Given the description of an element on the screen output the (x, y) to click on. 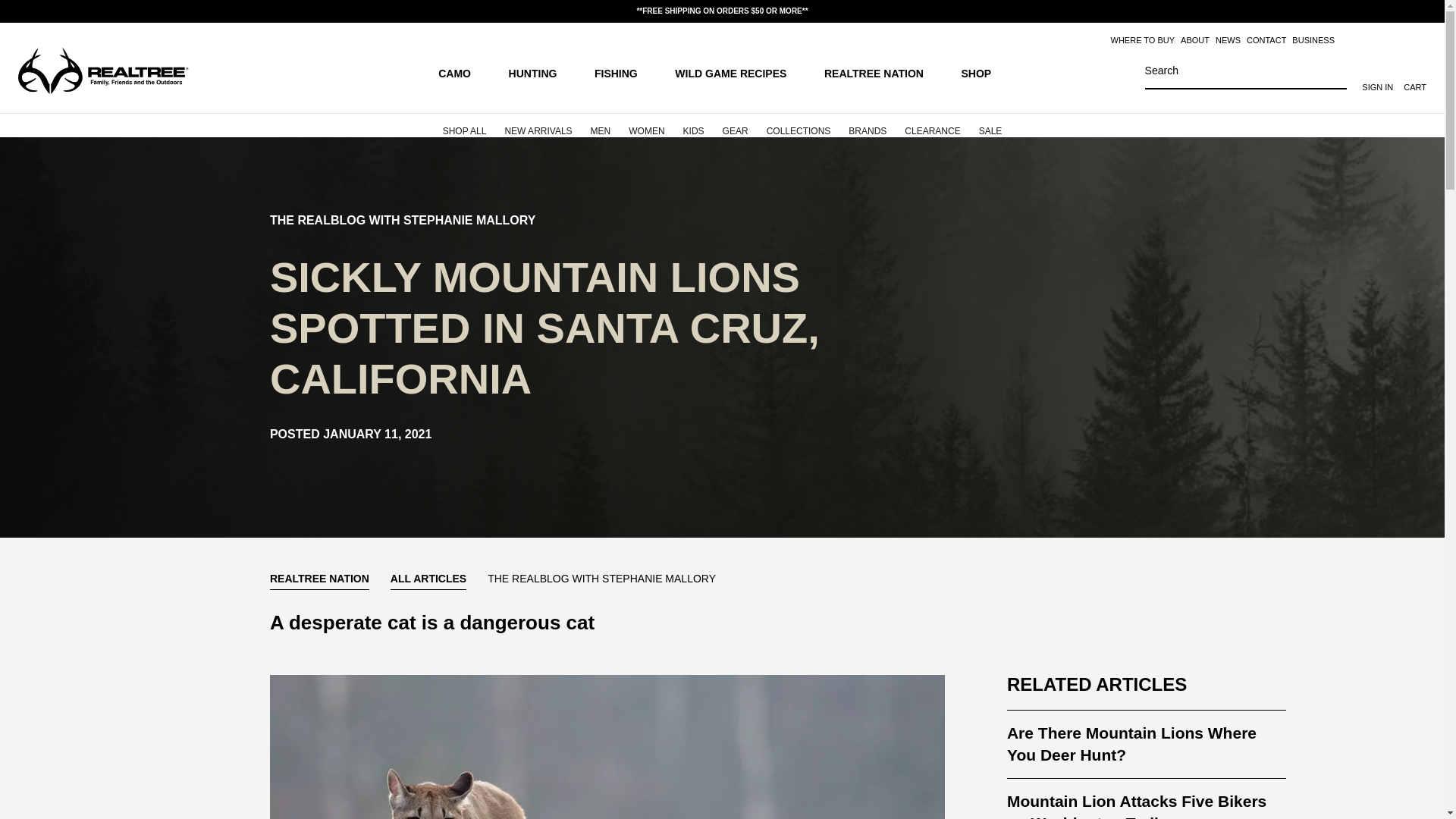
BUSINESS (1313, 40)
ABOUT (1194, 40)
HUNTING (540, 72)
CONTACT (1265, 40)
Close promo bar (1424, 10)
Close (1424, 10)
NEWS (1227, 40)
WHERE TO BUY (1142, 40)
CAMO (461, 72)
